Given the description of an element on the screen output the (x, y) to click on. 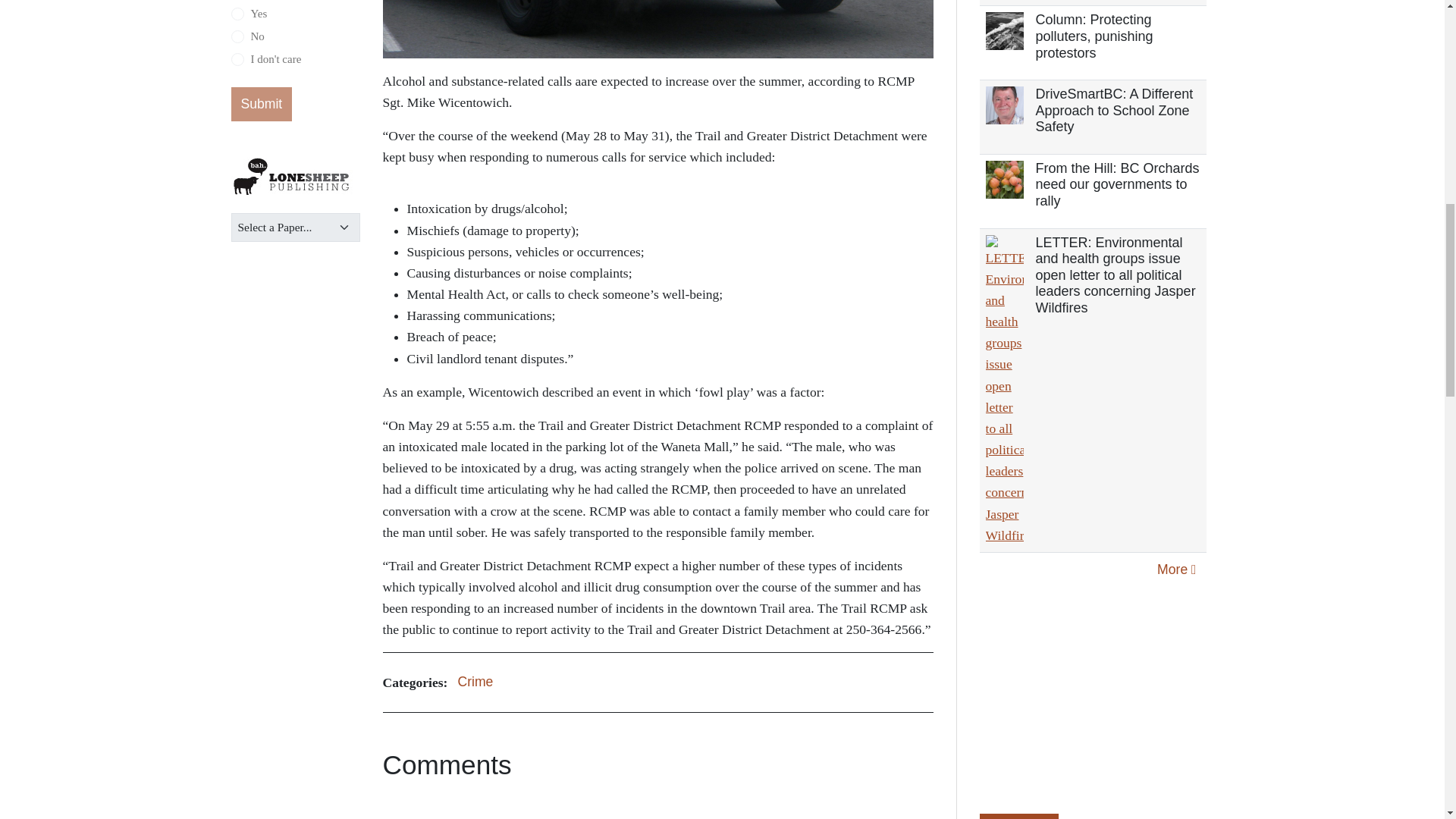
gpoll1892df81e (237, 14)
gpoll135bfdf59 (237, 37)
Submit (261, 104)
Crime (474, 682)
DriveSmartBC: A Different Approach to School Zone Safety (1114, 110)
Column: Protecting polluters, punishing protestors (1094, 35)
Submit (261, 104)
gpoll14070505e (237, 59)
